Given the description of an element on the screen output the (x, y) to click on. 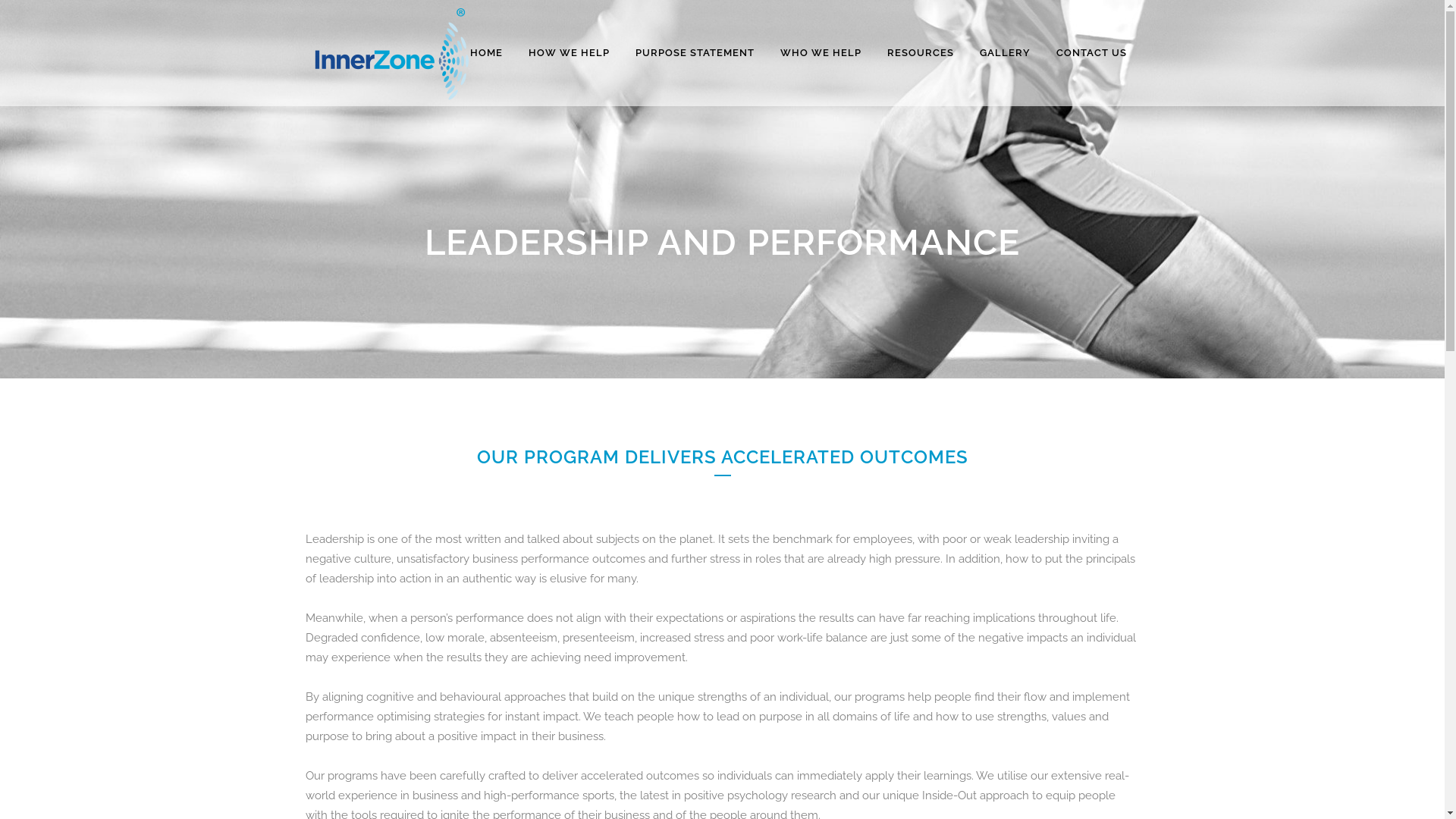
HOME Element type: text (485, 53)
GALLERY Element type: text (1004, 53)
PURPOSE STATEMENT Element type: text (693, 53)
RESOURCES Element type: text (919, 53)
CONTACT US Element type: text (1091, 53)
WHO WE HELP Element type: text (820, 53)
HOW WE HELP Element type: text (568, 53)
